Given the description of an element on the screen output the (x, y) to click on. 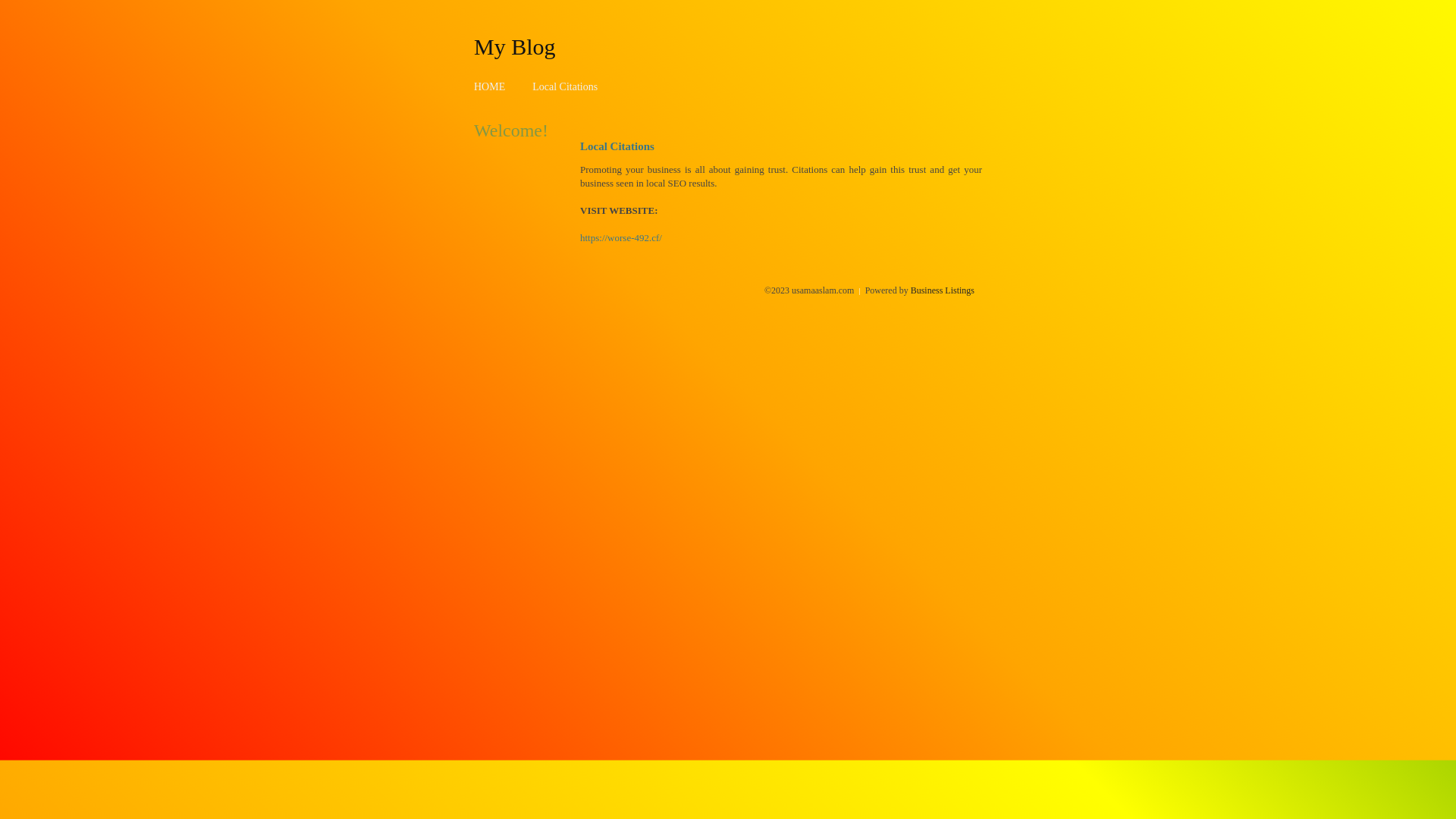
Local Citations Element type: text (564, 86)
HOME Element type: text (489, 86)
https://worse-492.cf/ Element type: text (621, 237)
My Blog Element type: text (514, 46)
Business Listings Element type: text (942, 290)
